Given the description of an element on the screen output the (x, y) to click on. 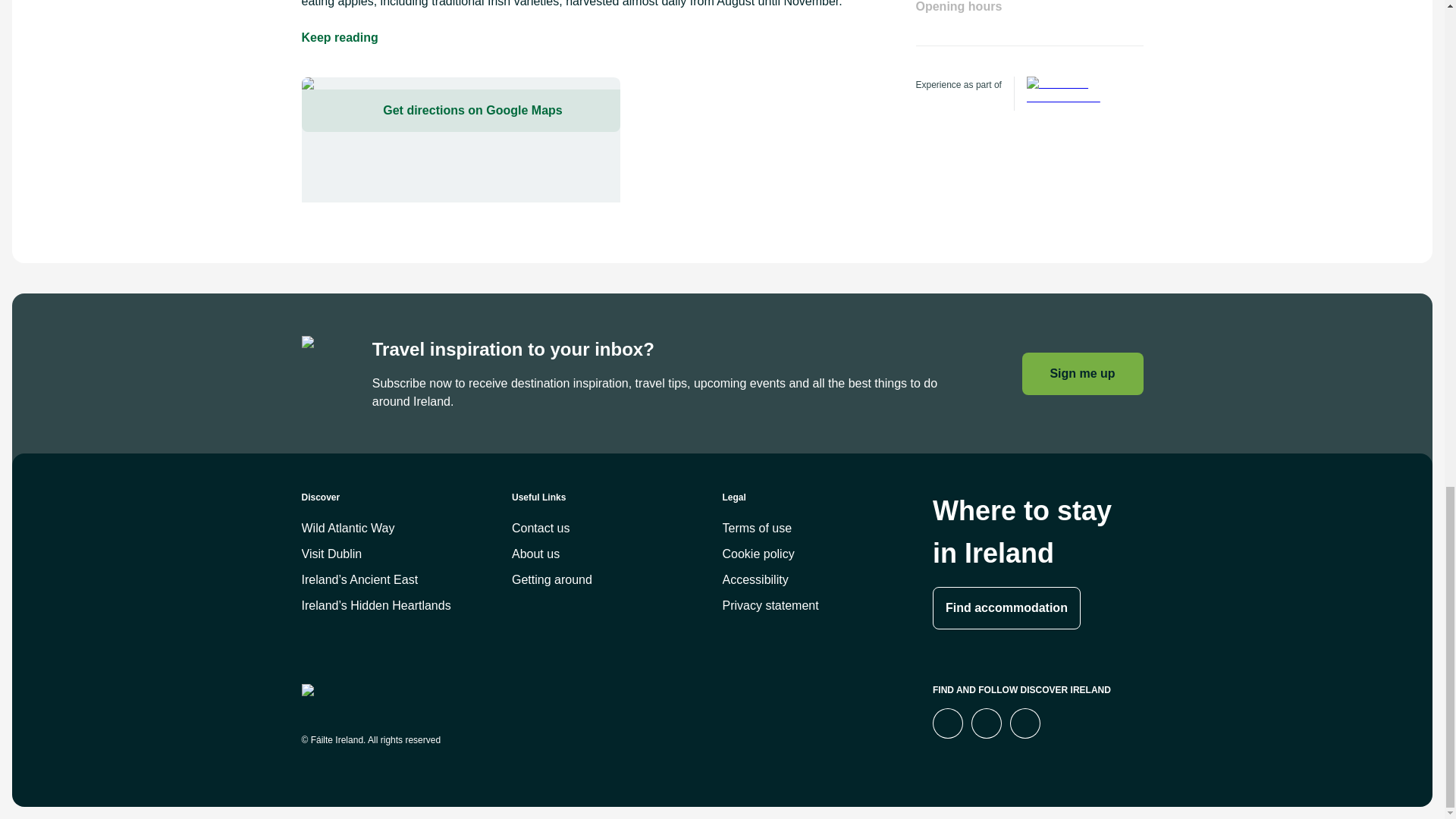
Keep reading (339, 37)
Get directions on Google Maps (460, 139)
Get directions on Google Maps (460, 110)
Opening hours (1028, 22)
